Given the description of an element on the screen output the (x, y) to click on. 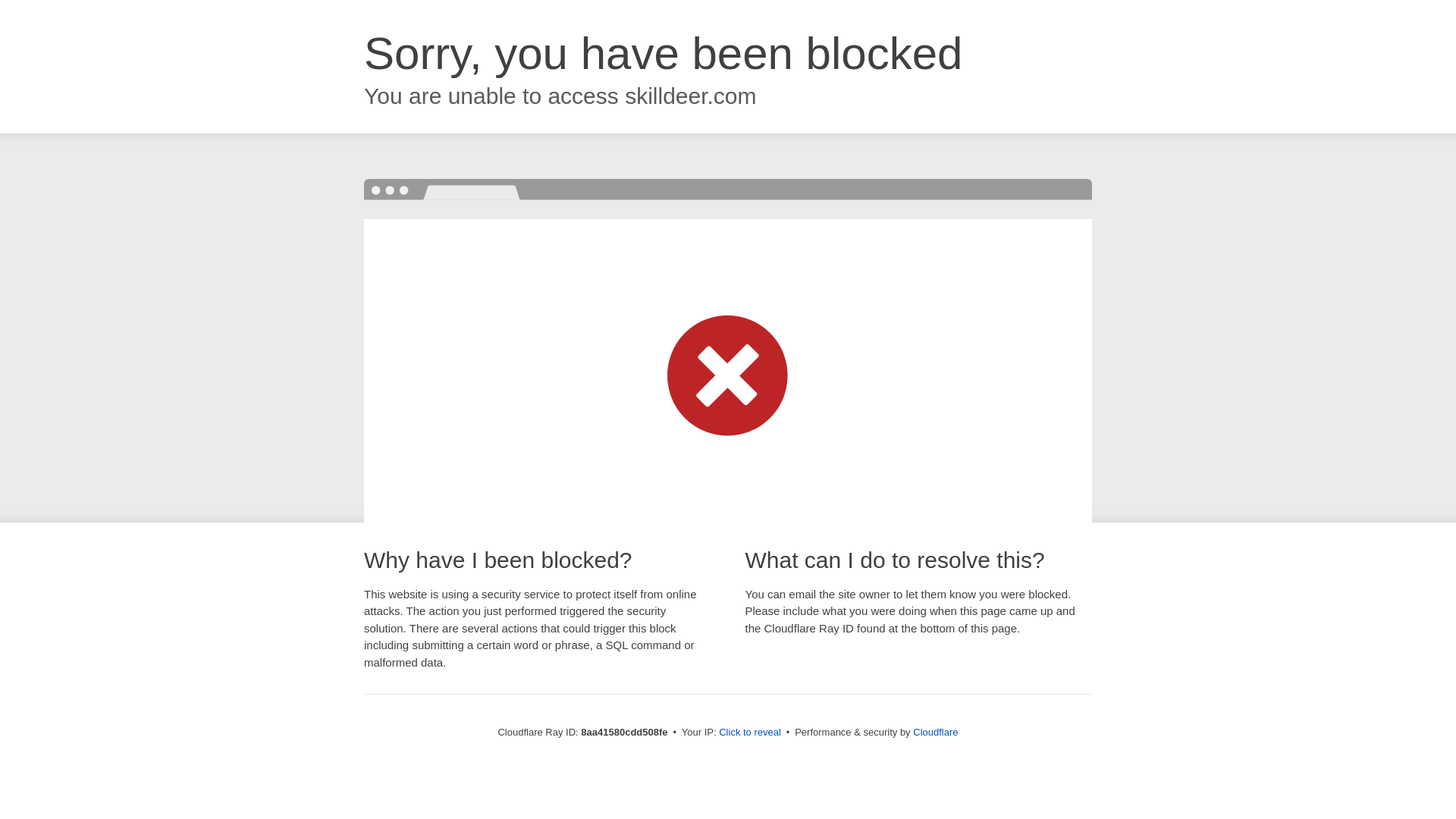
Cloudflare (935, 731)
Click to reveal (749, 732)
